Given the description of an element on the screen output the (x, y) to click on. 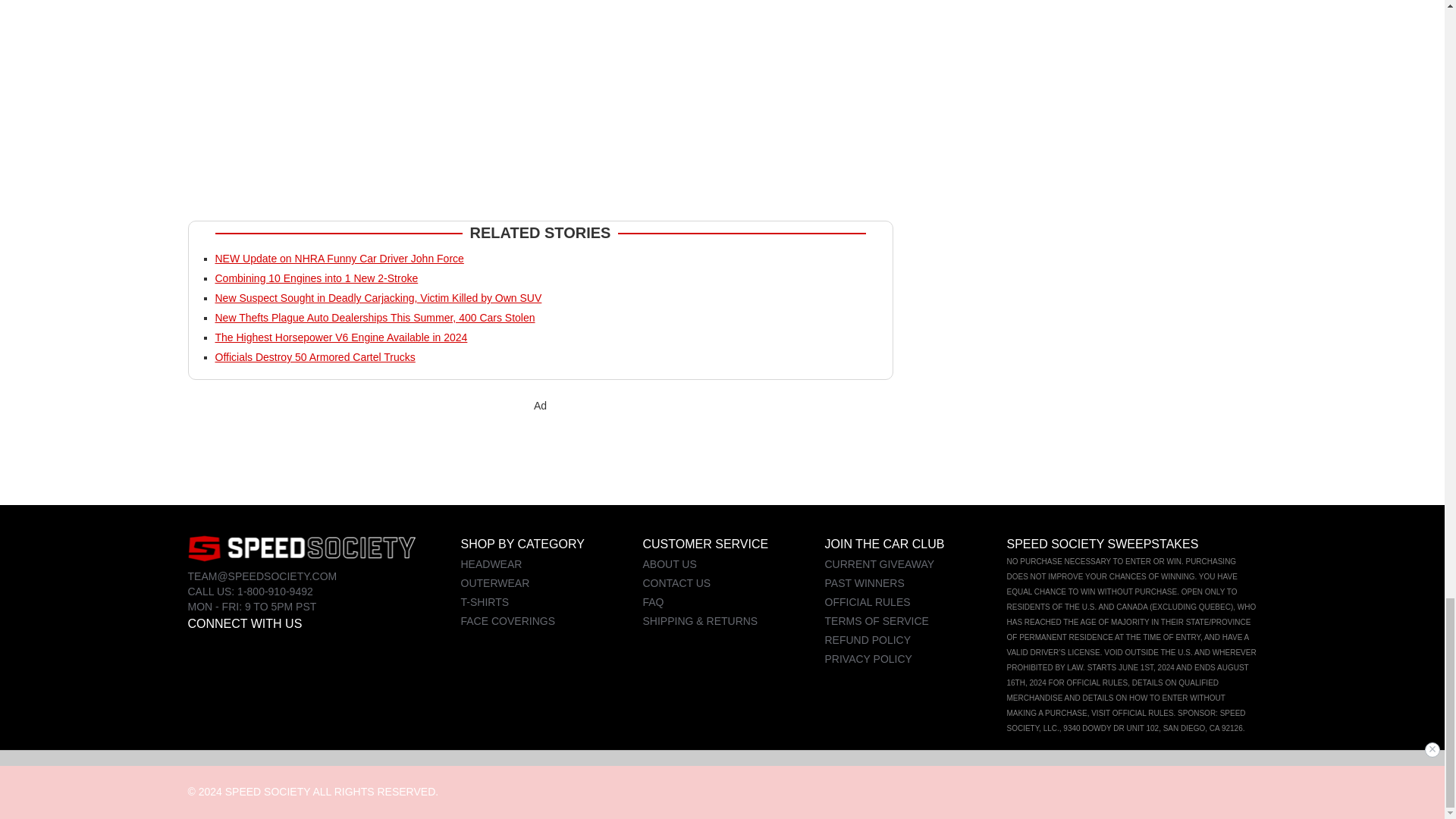
Combining 10 Engines into 1 New 2-Stroke (317, 277)
NEW Update on NHRA Funny Car Driver John Force (339, 258)
footer logo (300, 548)
